Given the description of an element on the screen output the (x, y) to click on. 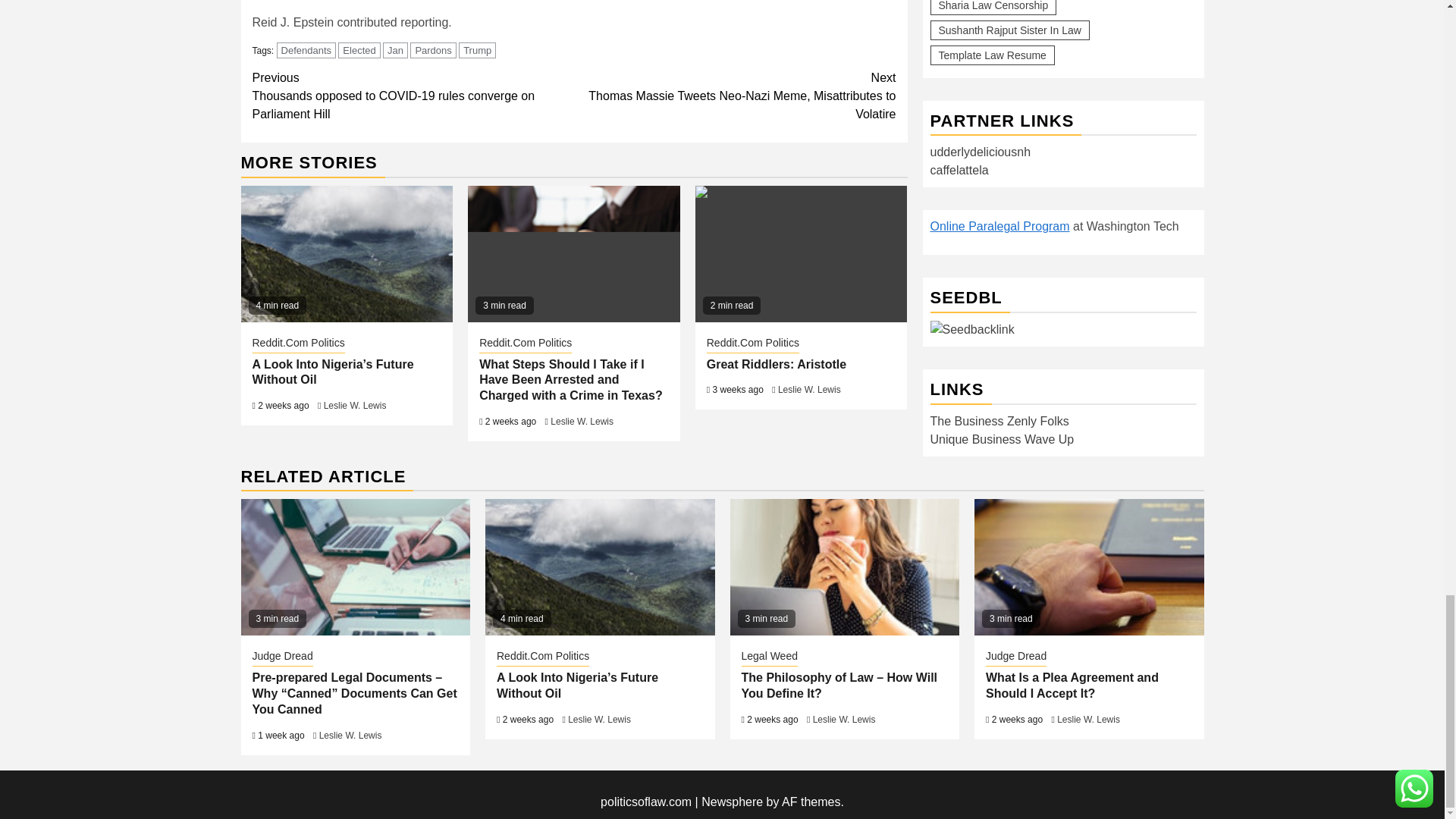
Pardons (432, 50)
Jan (394, 50)
Reddit.Com Politics (525, 343)
Great Riddlers: Aristotle (801, 253)
Elected (358, 50)
Reddit.Com Politics (297, 343)
Defendants (306, 50)
